Given the description of an element on the screen output the (x, y) to click on. 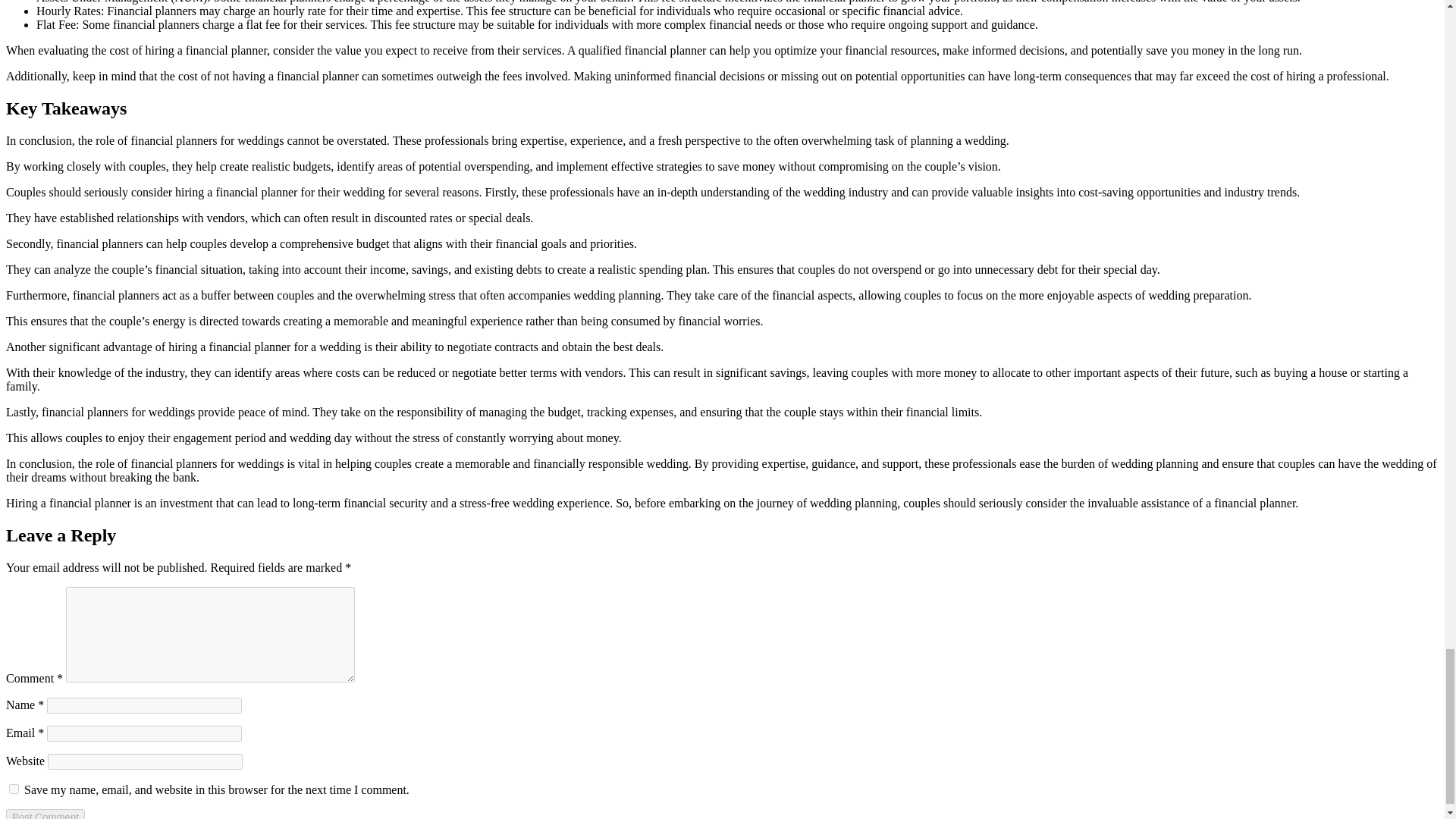
yes (13, 788)
